Given the description of an element on the screen output the (x, y) to click on. 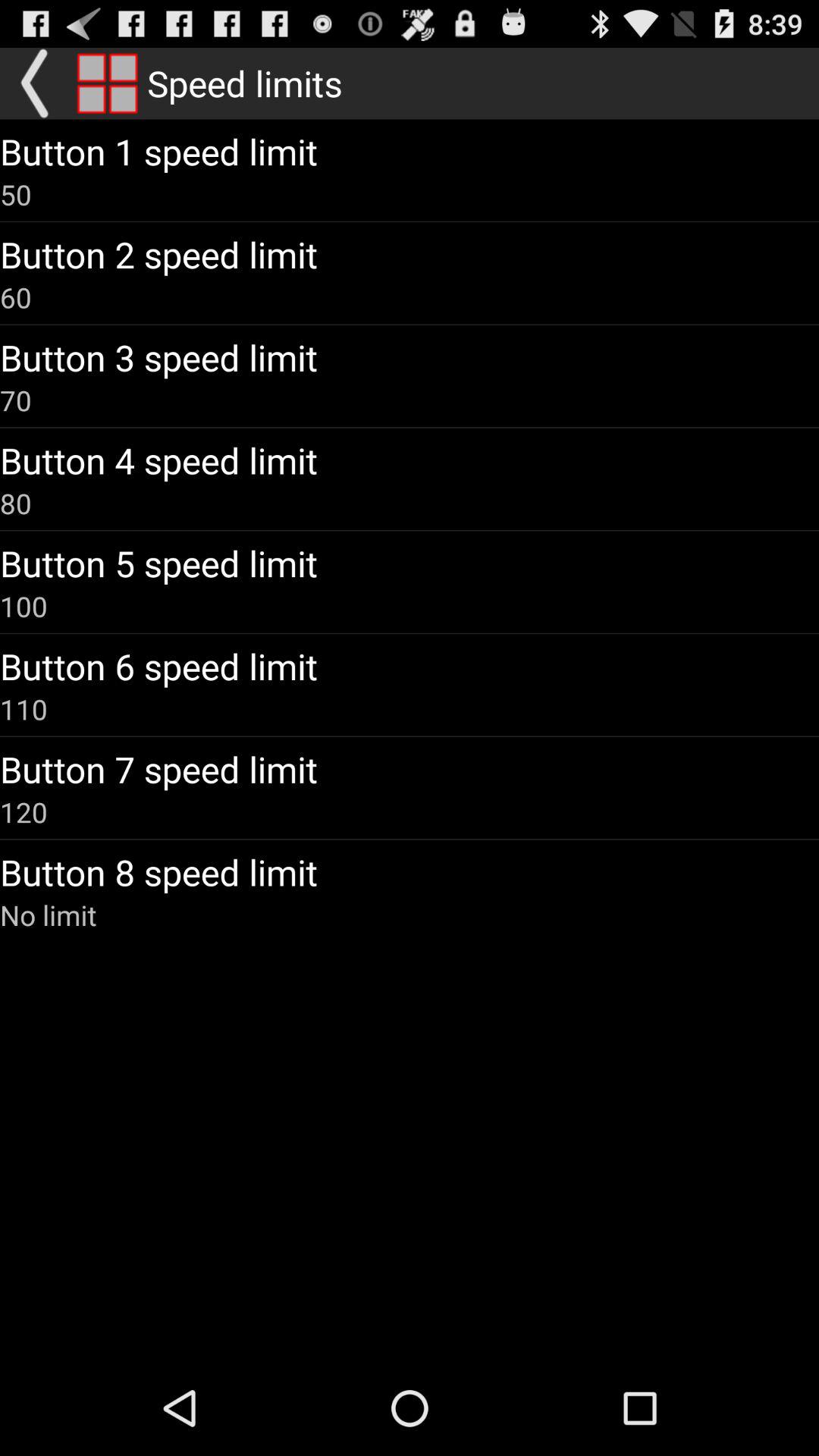
turn off 120 item (23, 811)
